Given the description of an element on the screen output the (x, y) to click on. 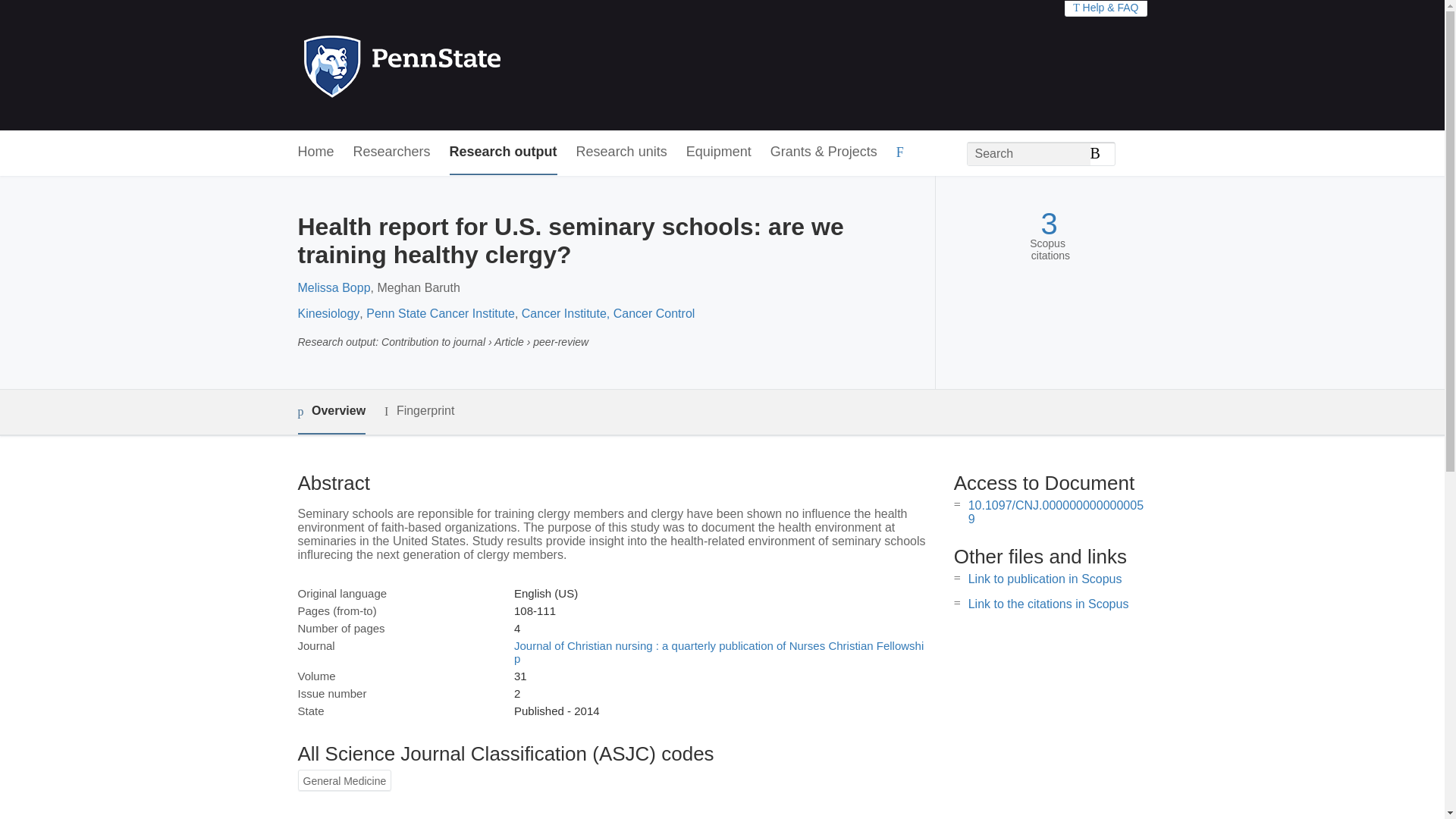
Research output (503, 152)
Research units (621, 152)
Equipment (718, 152)
Penn State Cancer Institute (440, 313)
Melissa Bopp (333, 287)
Cancer Institute, Cancer Control (608, 313)
Kinesiology (328, 313)
Link to the citations in Scopus (1048, 603)
Penn State Home (467, 65)
Overview (331, 411)
Link to publication in Scopus (1045, 578)
Researchers (391, 152)
Fingerprint (419, 411)
